Given the description of an element on the screen output the (x, y) to click on. 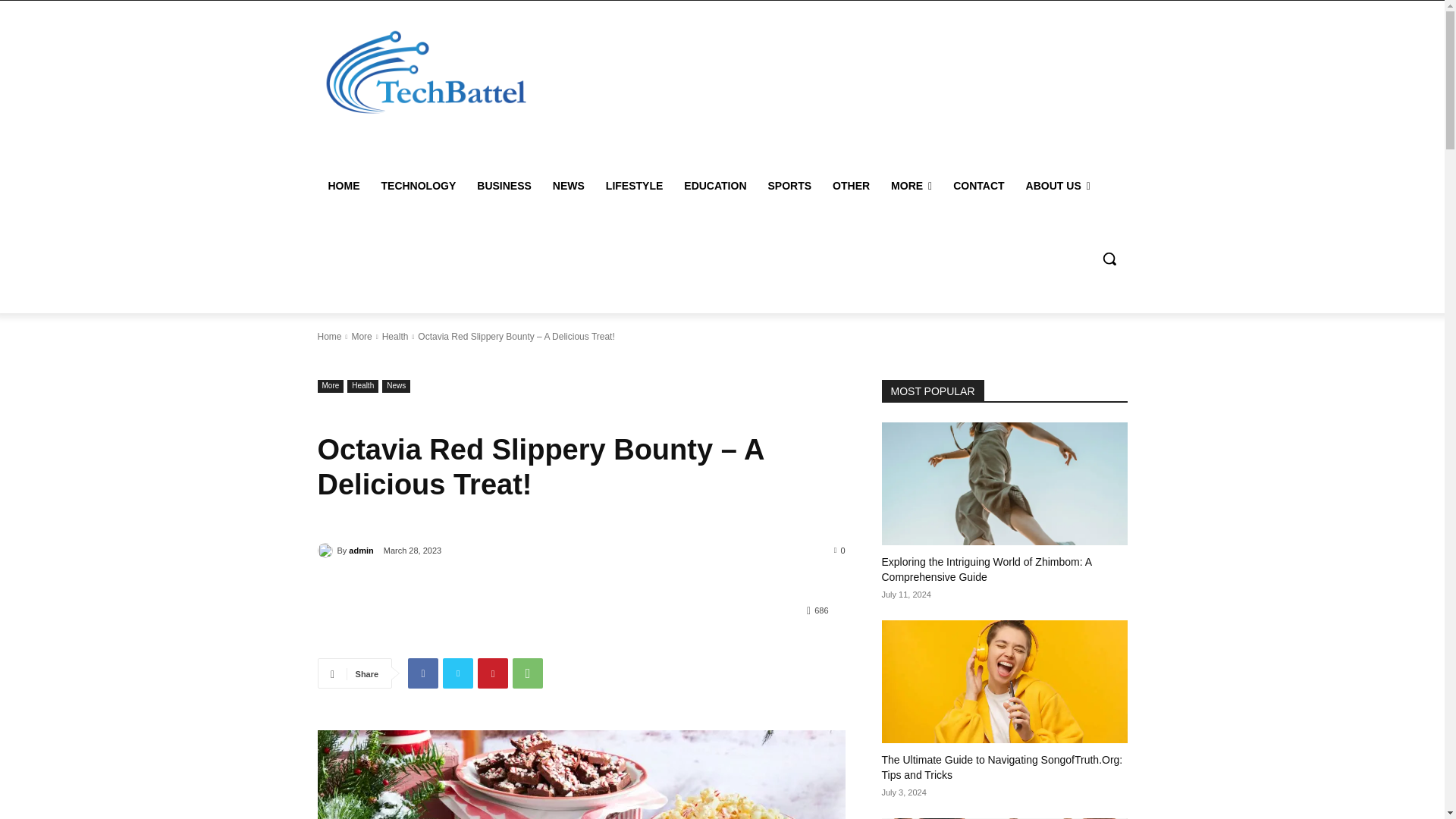
Octavia Red Slippery Bounty (580, 774)
LIFESTYLE (633, 185)
admin (326, 549)
NEWS (568, 185)
SPORTS (789, 185)
HOME (343, 185)
BUSINESS (503, 185)
EDUCATION (714, 185)
MORE (911, 185)
WhatsApp (527, 673)
View all posts in More (360, 336)
View all posts in Health (395, 336)
Pinterest (492, 673)
OTHER (851, 185)
TECHNOLOGY (417, 185)
